Given the description of an element on the screen output the (x, y) to click on. 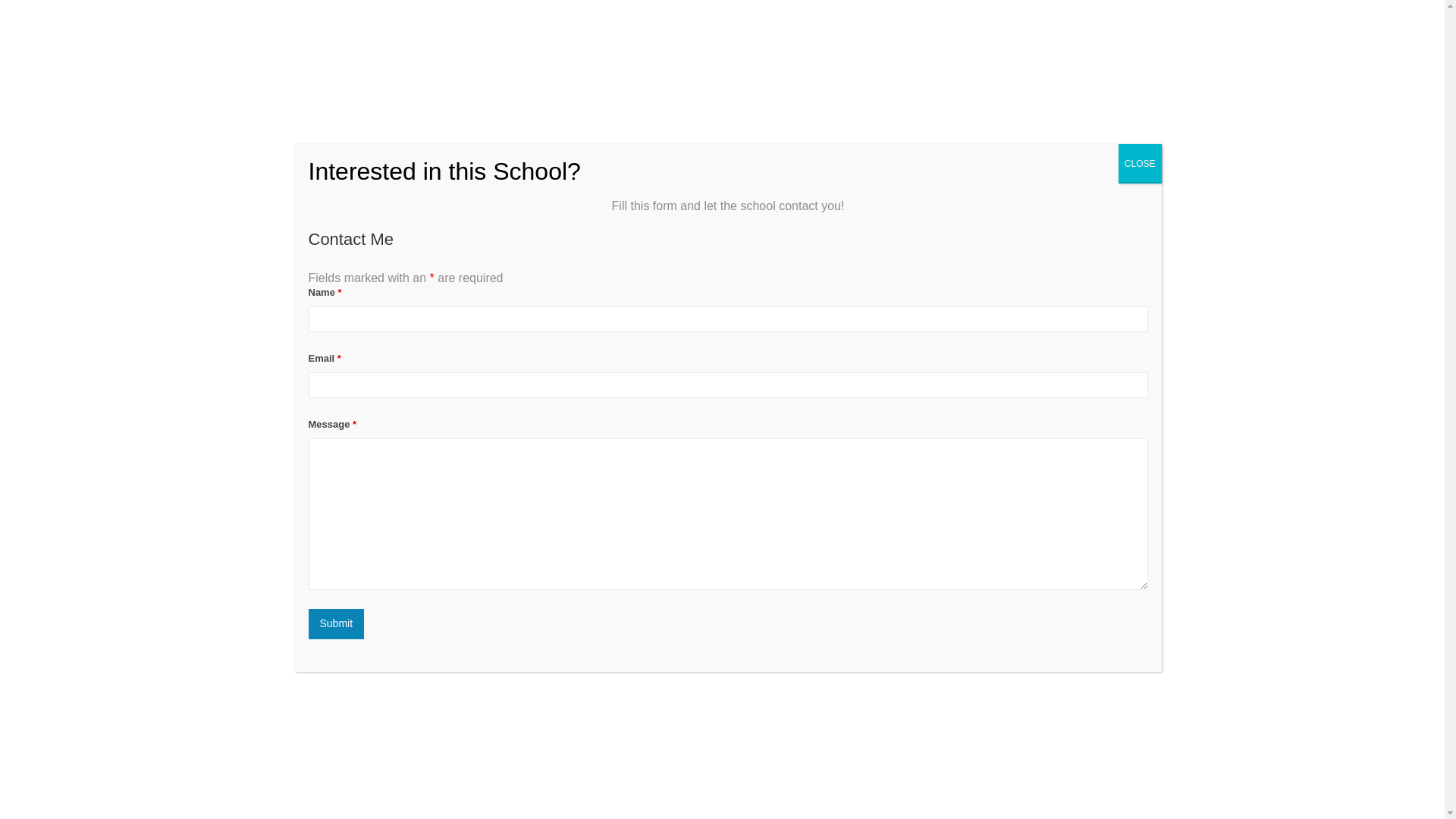
Share (1128, 390)
Description (308, 457)
Post New Review (457, 457)
Columbus (420, 355)
BLOG (1061, 30)
Ohio (379, 355)
Not rated yet! (307, 325)
CLOSE (1139, 163)
MBA Reviews (357, 29)
United States (332, 355)
Submit (335, 624)
Share (1128, 390)
MBA ACCREDITATIONS (967, 30)
Submit (335, 624)
MBA RANKINGS (852, 30)
